Given the description of an element on the screen output the (x, y) to click on. 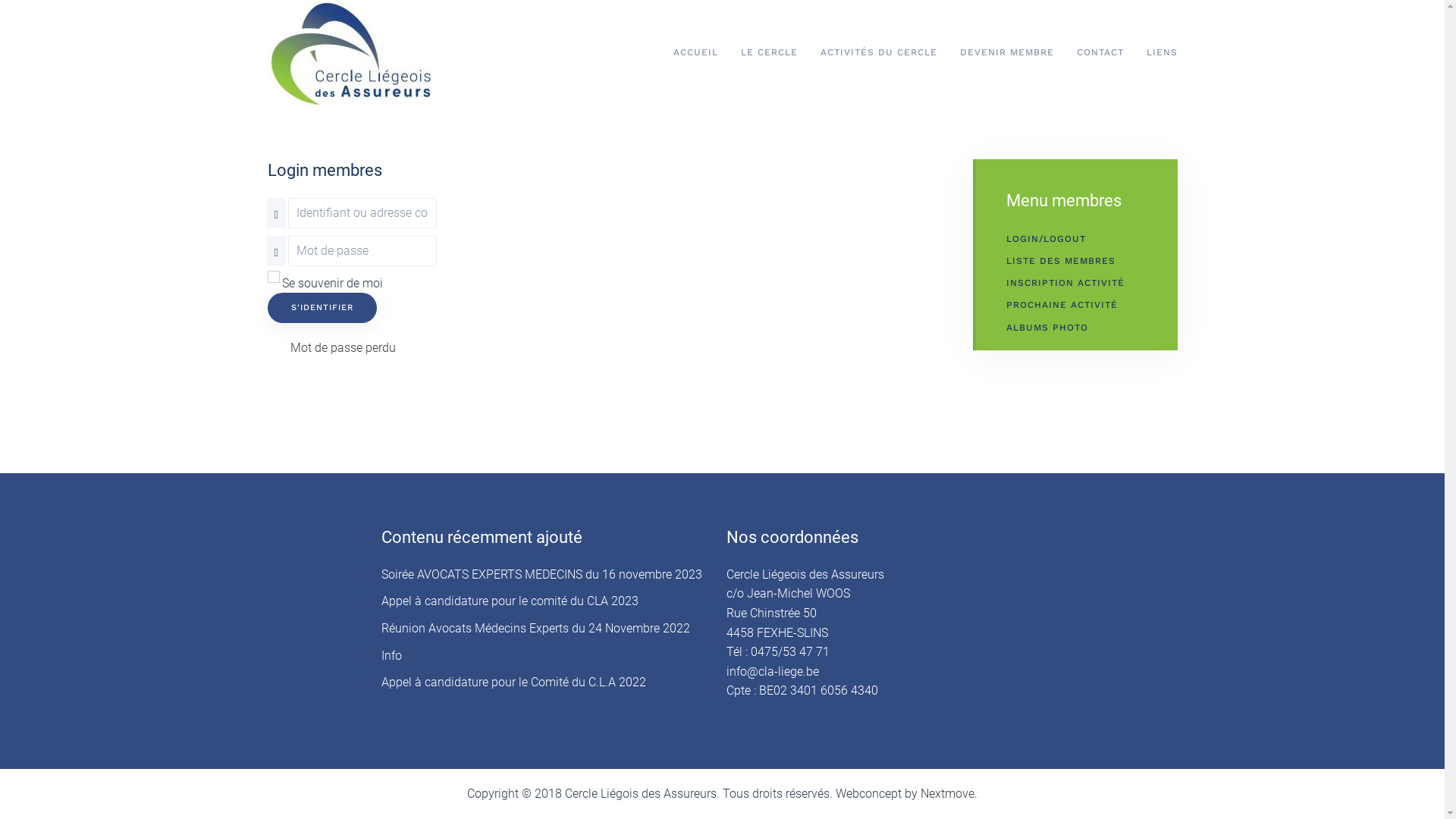
ALBUMS PHOTO Element type: text (1075, 327)
LOGIN/LOGOUT Element type: text (1075, 239)
CONTACT Element type: text (1099, 53)
LIENS Element type: text (1161, 53)
Info Element type: text (390, 655)
ACCUEIL Element type: text (694, 53)
DEVENIR MEMBRE Element type: text (1005, 53)
Mot de passe Element type: hover (276, 252)
Mot de passe perdu Element type: text (342, 347)
LE CERCLE Element type: text (769, 53)
LISTE DES MEMBRES Element type: text (1075, 261)
Identifiant ou adresse courriel Element type: hover (276, 214)
Nextmove Element type: text (947, 793)
S'IDENTIFIER Element type: text (321, 307)
